Given the description of an element on the screen output the (x, y) to click on. 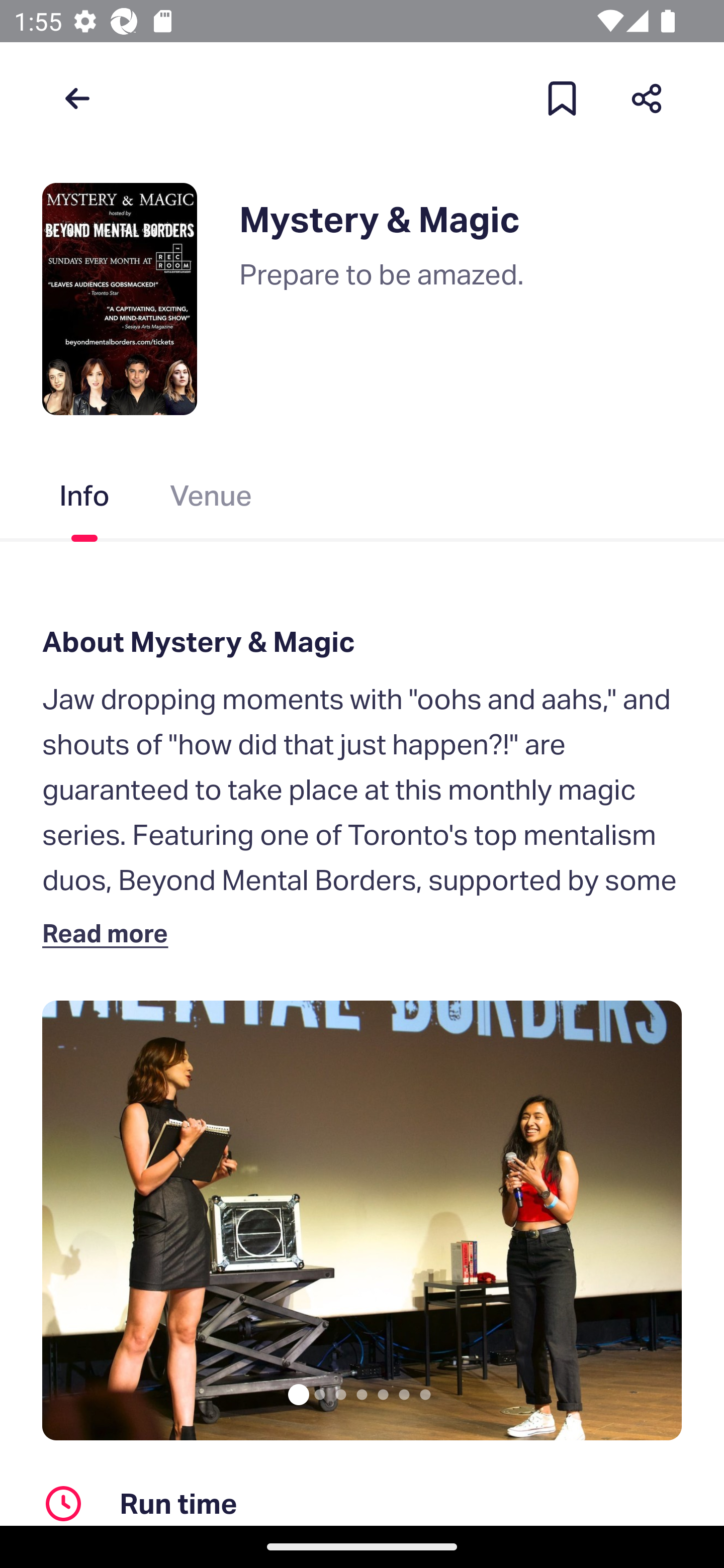
Venue (210, 499)
About Mystery & Magic (361, 642)
Read more (109, 932)
